Given the description of an element on the screen output the (x, y) to click on. 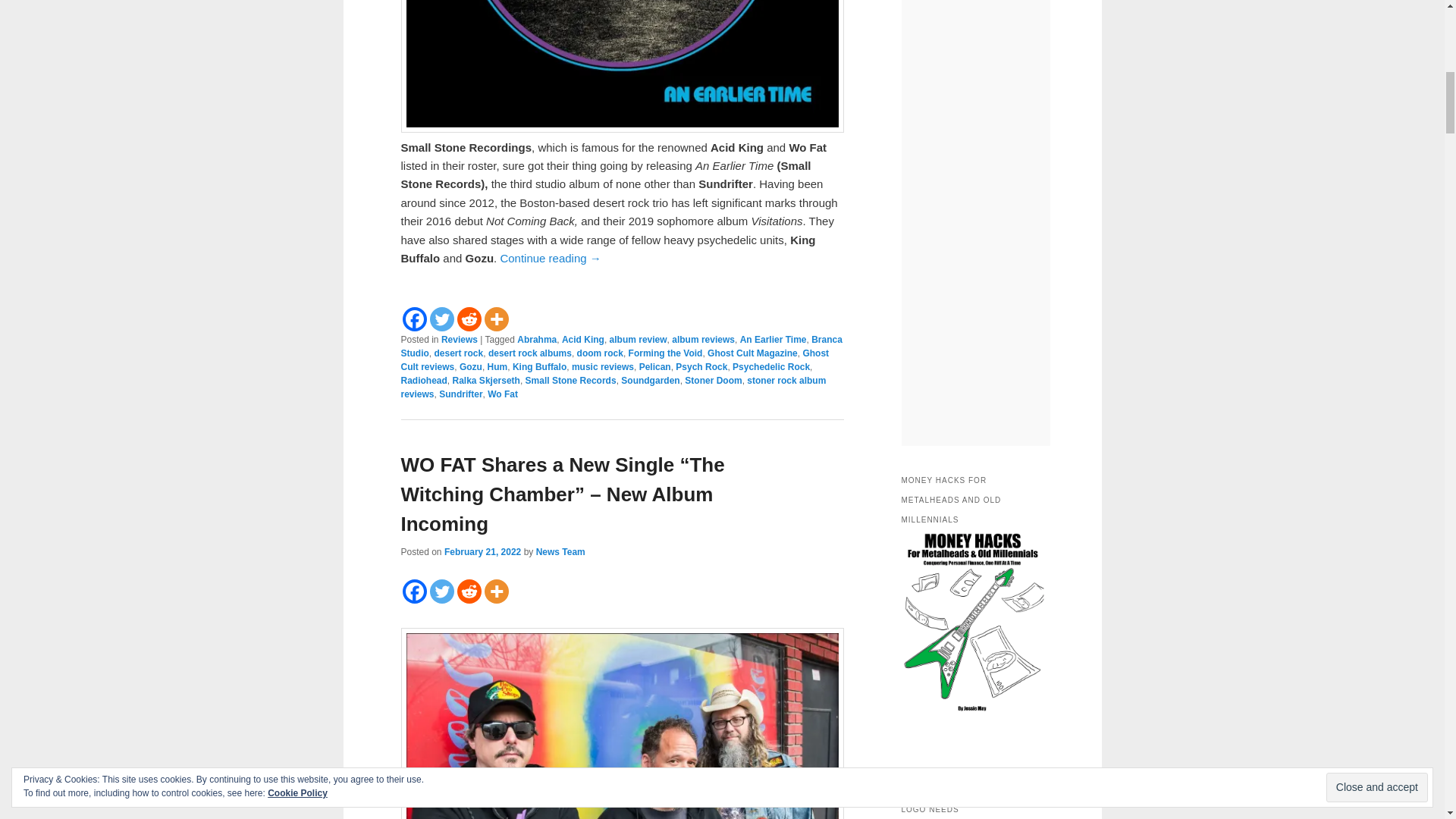
album review (638, 339)
Reddit (468, 319)
Twitter (440, 319)
More (495, 319)
Reviews (459, 339)
Acid King (583, 339)
Abrahma (536, 339)
Facebook (413, 319)
